Given the description of an element on the screen output the (x, y) to click on. 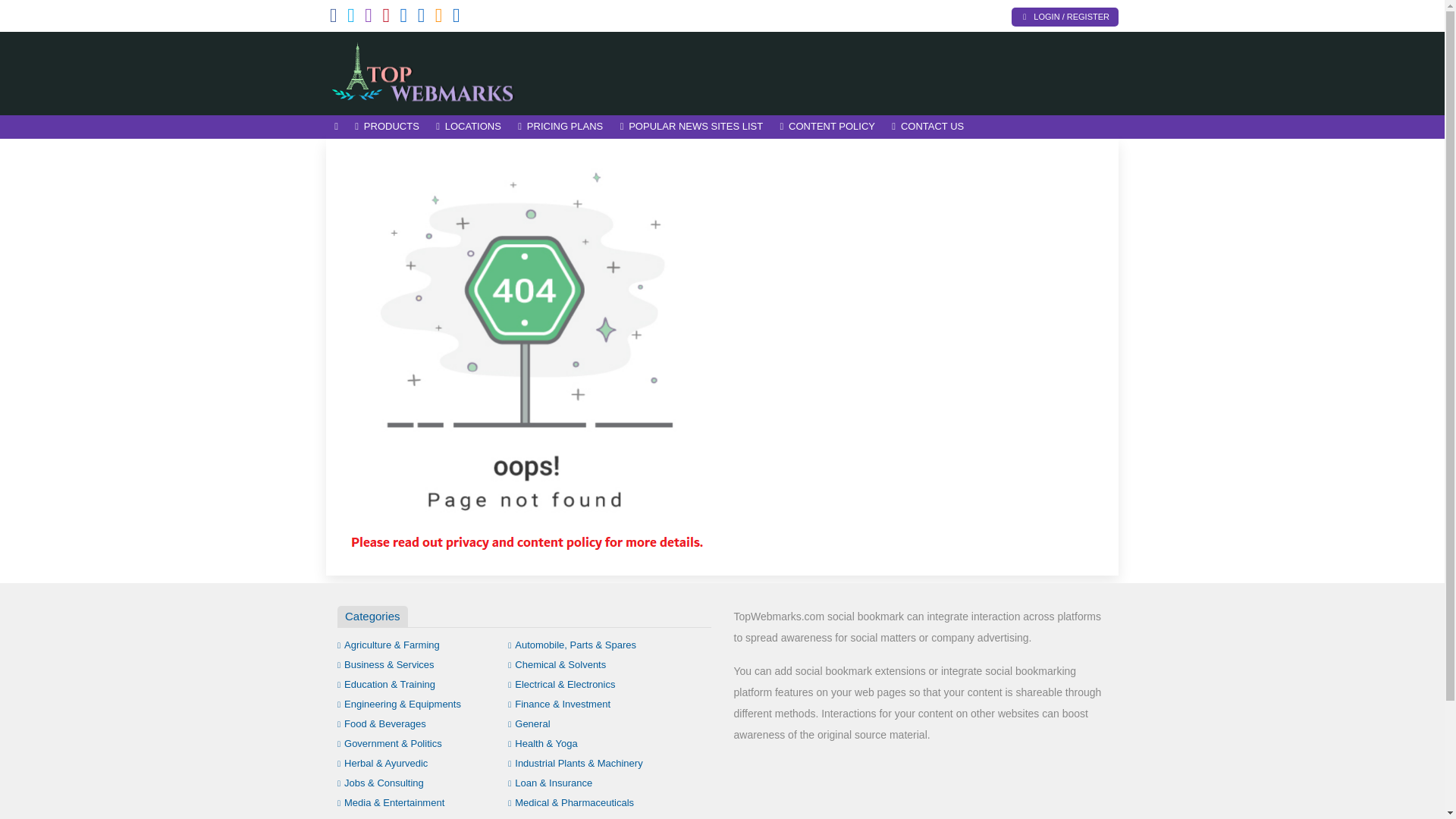
POPULAR NEWS SITES LIST (691, 126)
CONTACT US (927, 126)
LOCATIONS (468, 126)
General (529, 723)
PRICING PLANS (560, 126)
CONTENT POLICY (827, 126)
PRODUCTS (387, 126)
